Given the description of an element on the screen output the (x, y) to click on. 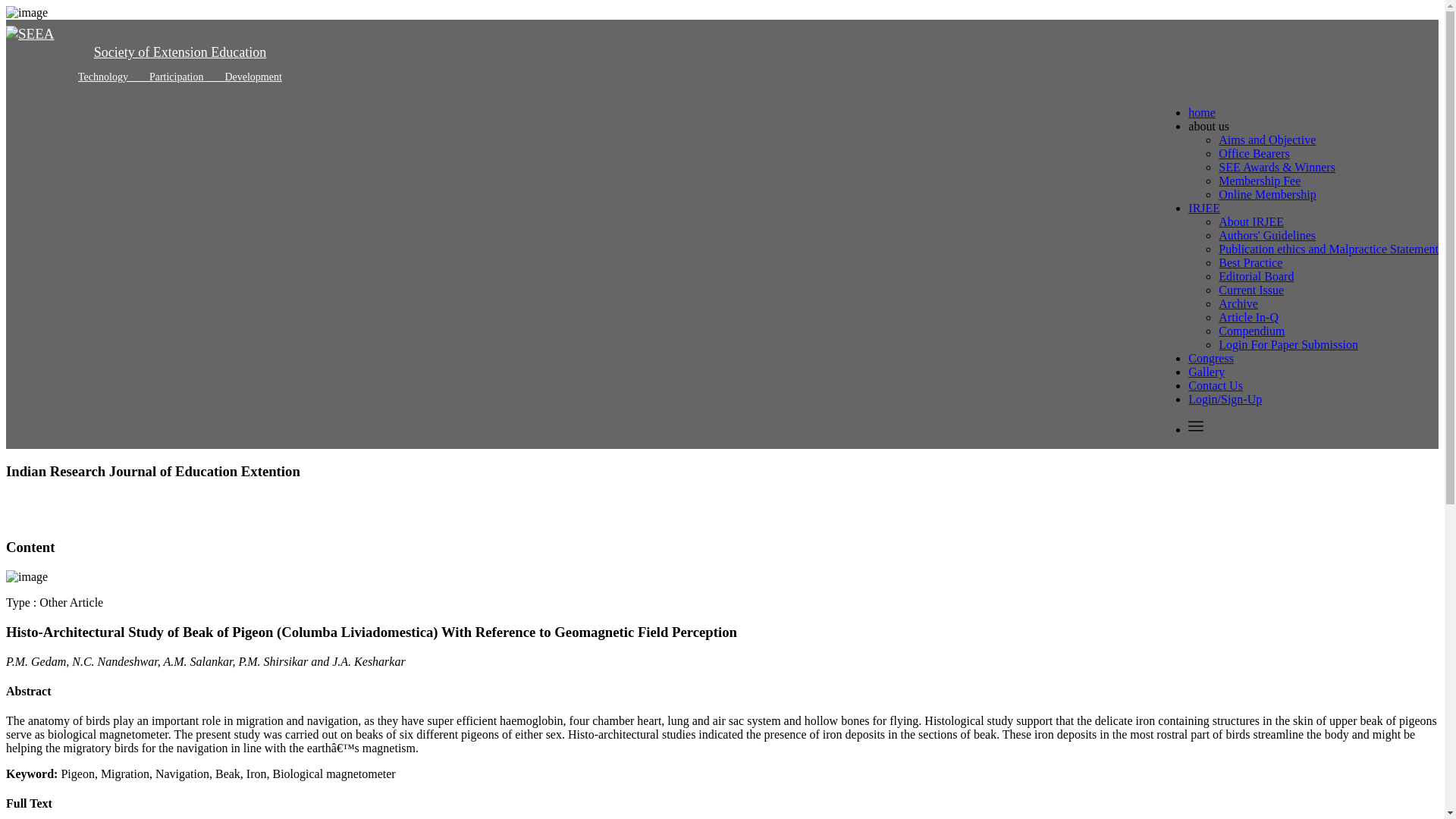
Authors' Guidelines (1267, 235)
Compendium (1251, 330)
about us (1208, 125)
Gallery (1206, 371)
Membership Fee (1259, 180)
Editorial Board (1256, 276)
Article In-Q (1248, 317)
Online Membership (1267, 194)
Login For Paper Submission (1288, 344)
Current Issue (1251, 289)
About IRJEE (1251, 221)
Best Practice (1250, 262)
Aims and Objective (1267, 139)
Archive (1237, 303)
